Given the description of an element on the screen output the (x, y) to click on. 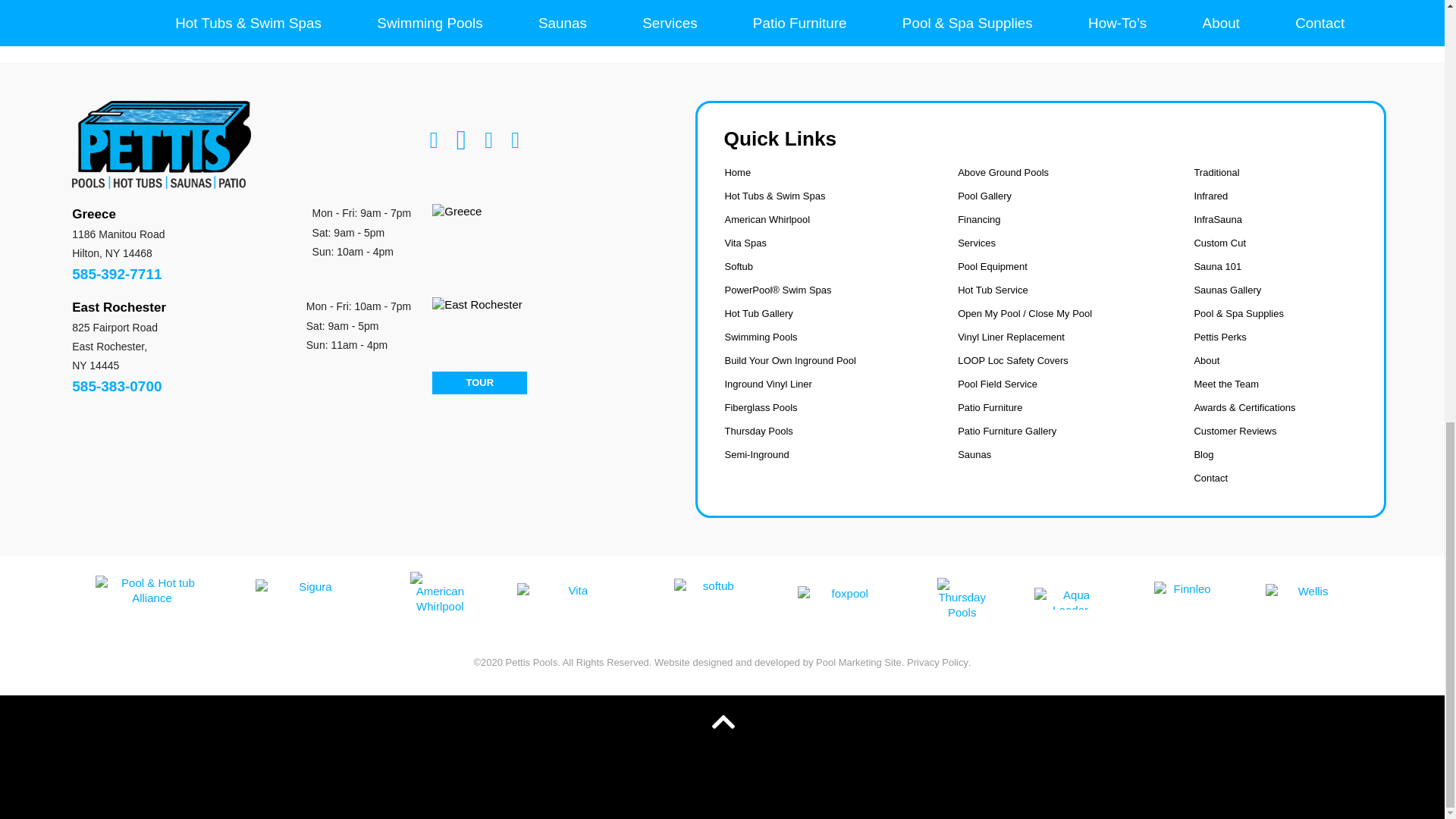
pettis (160, 144)
